Given the description of an element on the screen output the (x, y) to click on. 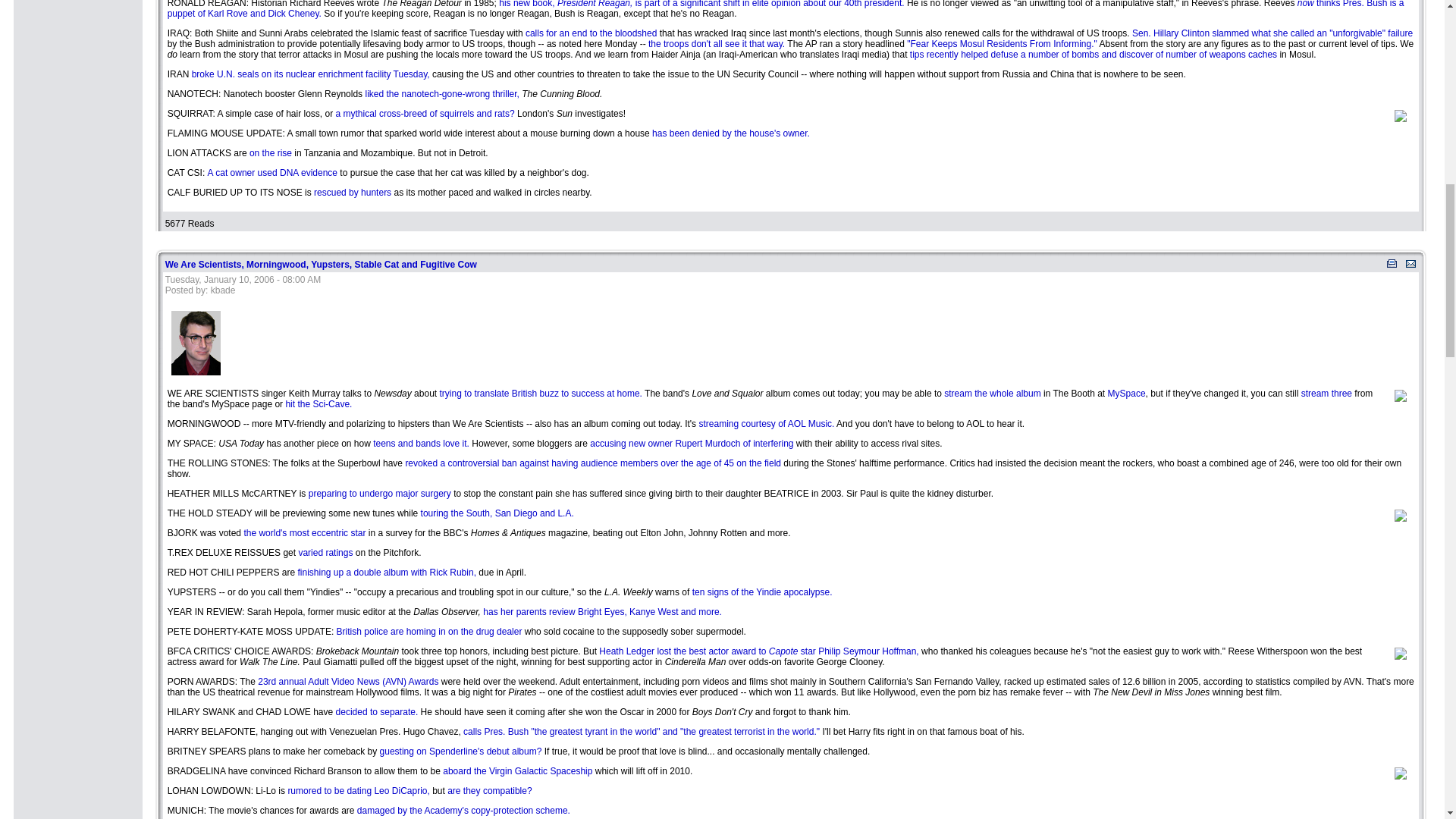
MySpace (1126, 393)
